Given the description of an element on the screen output the (x, y) to click on. 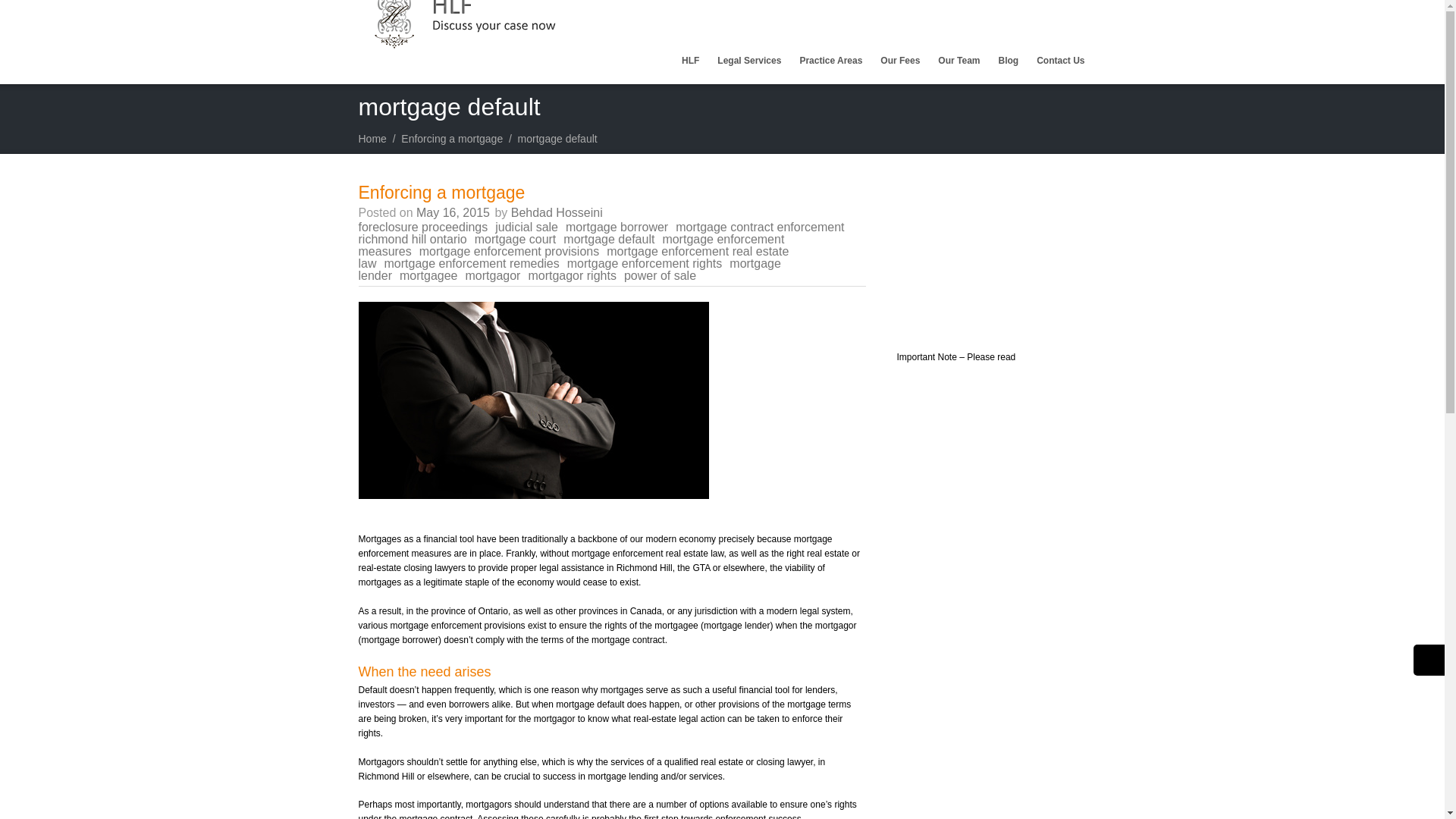
Our Fees (899, 60)
Home (371, 138)
Enforcing a mortgage (451, 138)
Practice Areas (830, 60)
Enforcing a mortgage (441, 192)
May 16, 2015 (454, 212)
mortgage contract enforcement richmond hill ontario (601, 232)
Permalink to Enforcing a mortgage (441, 192)
mortgage borrower (620, 226)
foreclosure proceedings (426, 226)
Behdad Hosseini (556, 212)
Our Team (958, 60)
HLF (690, 60)
View all posts by Behdad Hosseini (556, 212)
Legal Services (749, 60)
